Given the description of an element on the screen output the (x, y) to click on. 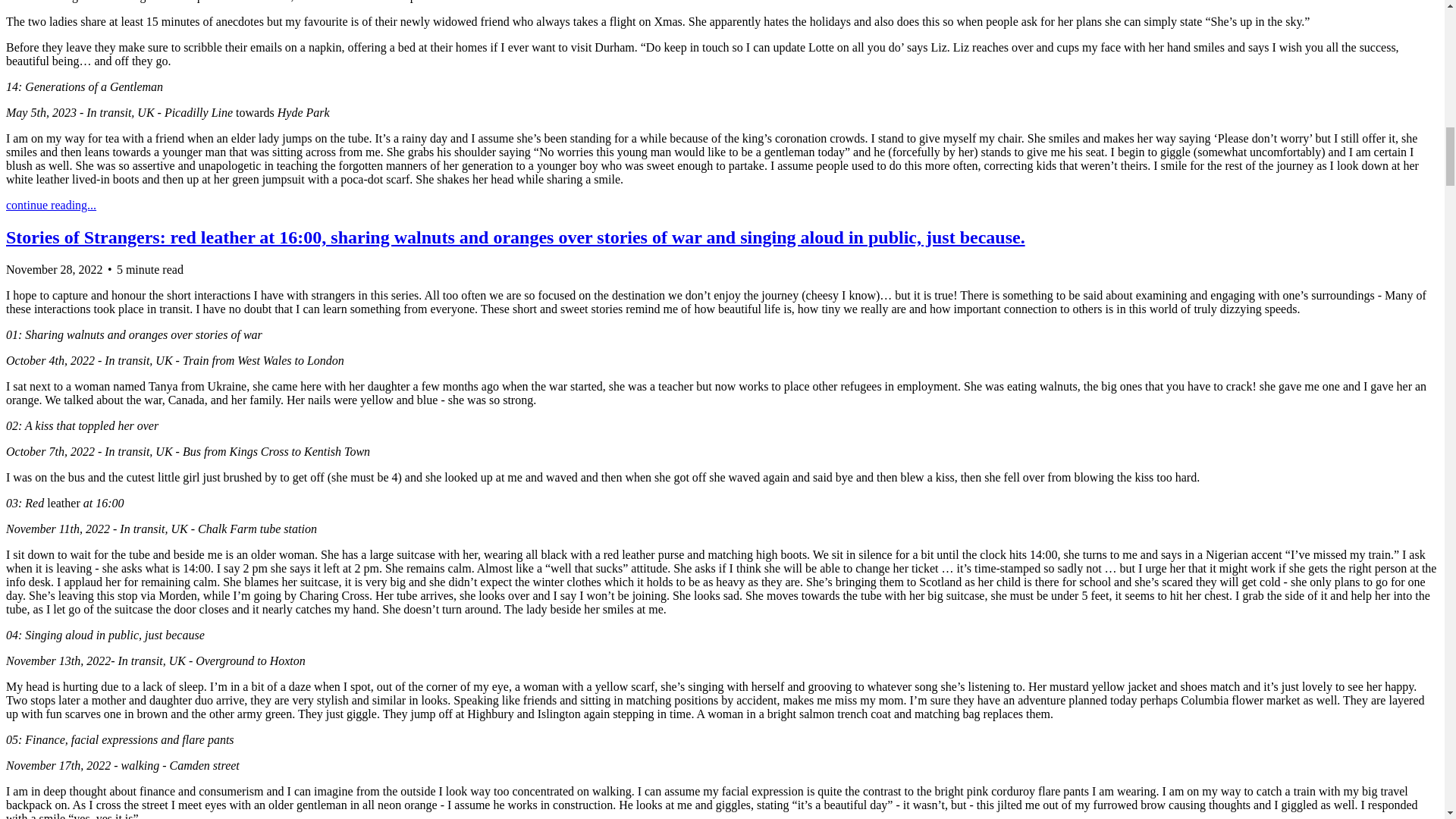
continue reading... (50, 205)
